Given the description of an element on the screen output the (x, y) to click on. 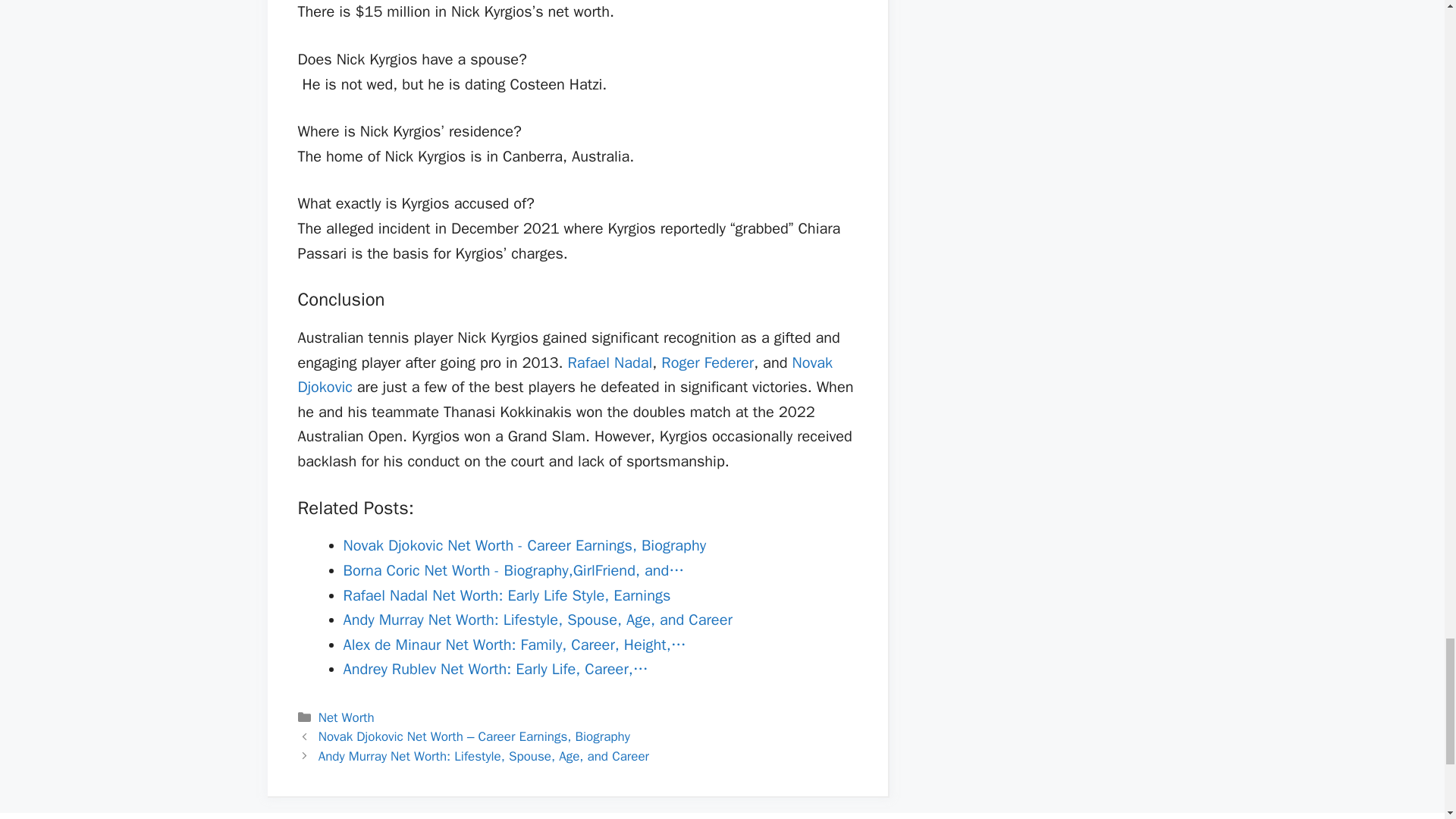
Roger Federer (707, 362)
Novak Djokovic (564, 374)
Rafael Nadal Net Worth: Early Life Style, Earnings (505, 595)
Andy Murray Net Worth: Lifestyle, Spouse, Age, and Career (483, 756)
Net Worth (346, 717)
Andy Murray Net Worth: Lifestyle, Spouse, Age, and Career (537, 619)
Rafael Nadal (609, 362)
Novak Djokovic Net Worth - Career Earnings, Biography (524, 545)
